Given the description of an element on the screen output the (x, y) to click on. 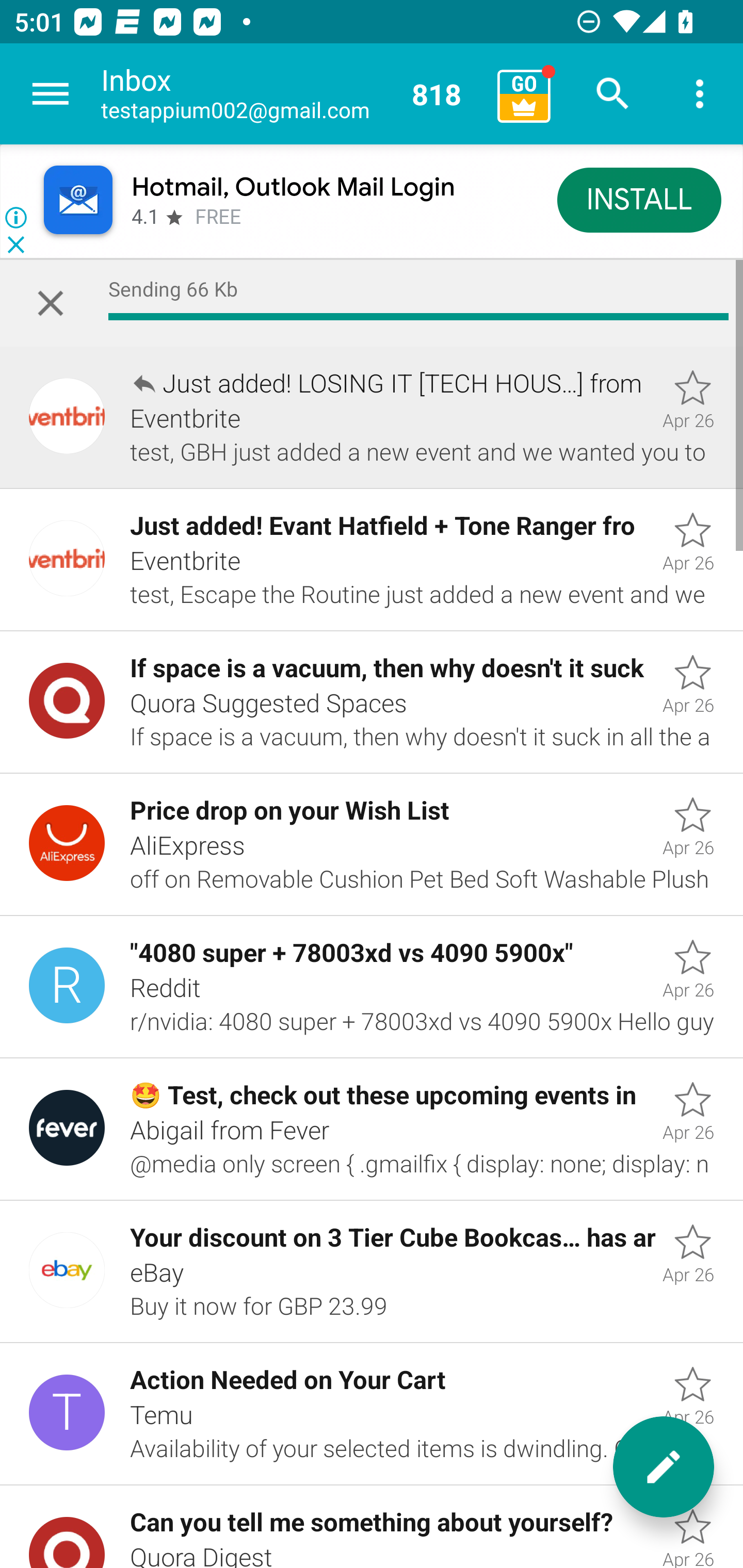
Navigate up (50, 93)
Inbox testappium002@gmail.com 818 (291, 93)
Search (612, 93)
More options (699, 93)
INSTALL (639, 199)
Hotmail, Outlook Mail Login (292, 186)
Sending 66 Kb 100.0 (371, 303)
New message (663, 1466)
